Given the description of an element on the screen output the (x, y) to click on. 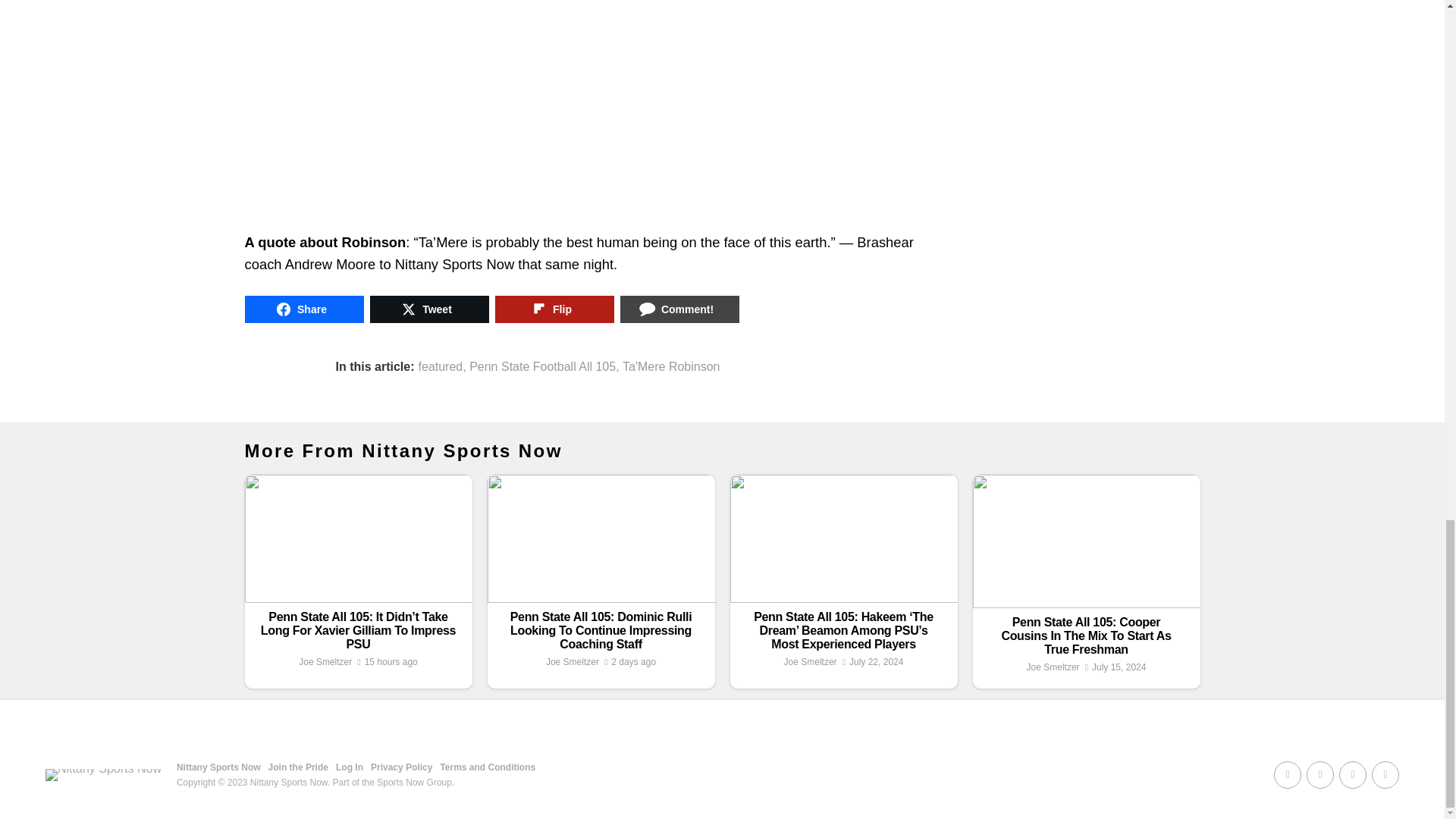
Posts by Joe Smeltzer (572, 661)
Share on Comment! (679, 308)
Posts by Joe Smeltzer (810, 661)
Share on Flip (553, 308)
Posts by Joe Smeltzer (1053, 666)
Share on Share (303, 308)
Share on Tweet (429, 308)
Posts by Joe Smeltzer (325, 661)
